Given the description of an element on the screen output the (x, y) to click on. 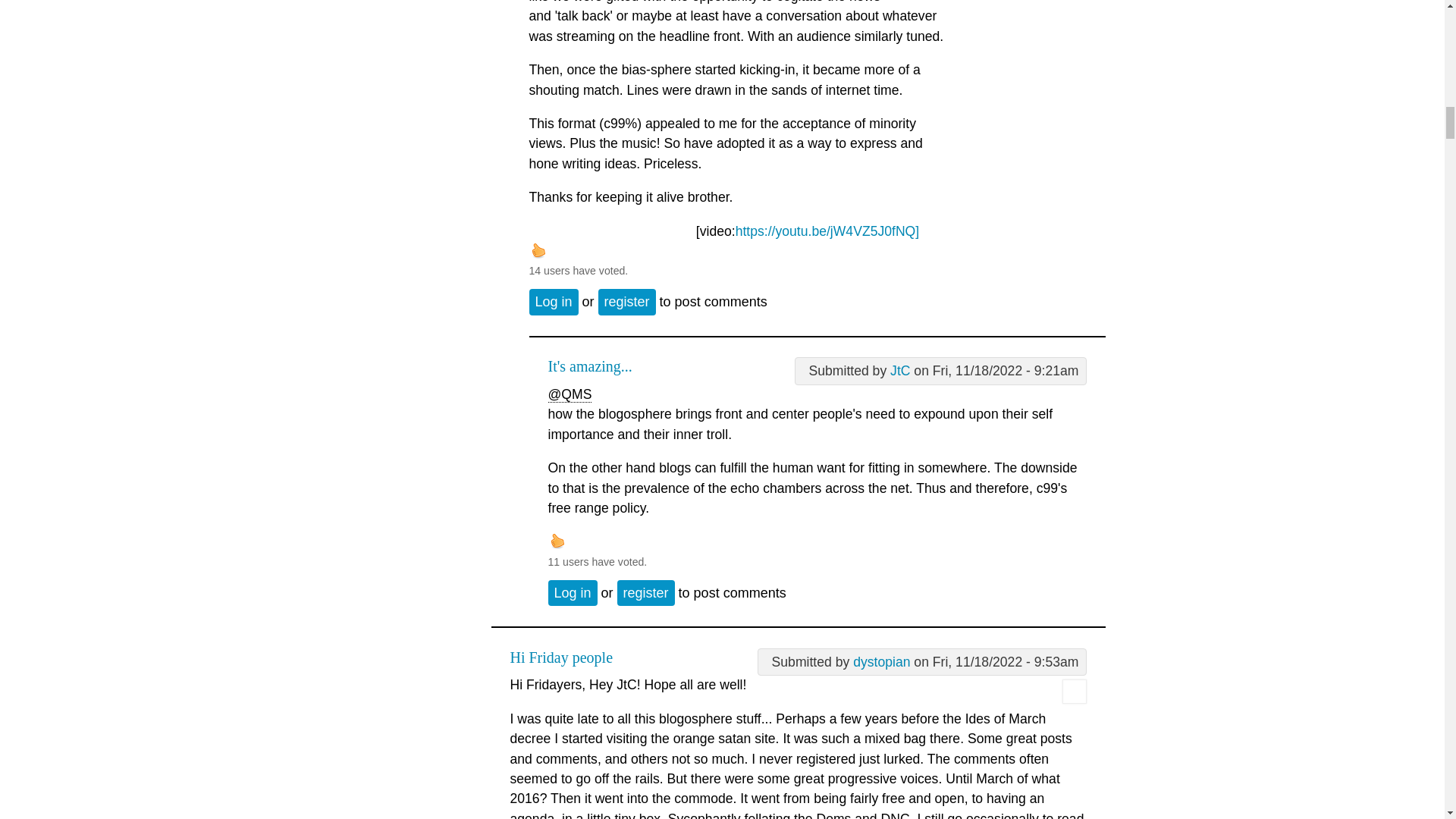
View user profile. (899, 370)
Log in (553, 301)
It's amazing... (589, 365)
JtC (899, 370)
dystopian's picture (1073, 691)
View user profile. (1073, 698)
View user profile. (881, 661)
register (627, 301)
Log in (571, 592)
dystopian (881, 661)
